Given the description of an element on the screen output the (x, y) to click on. 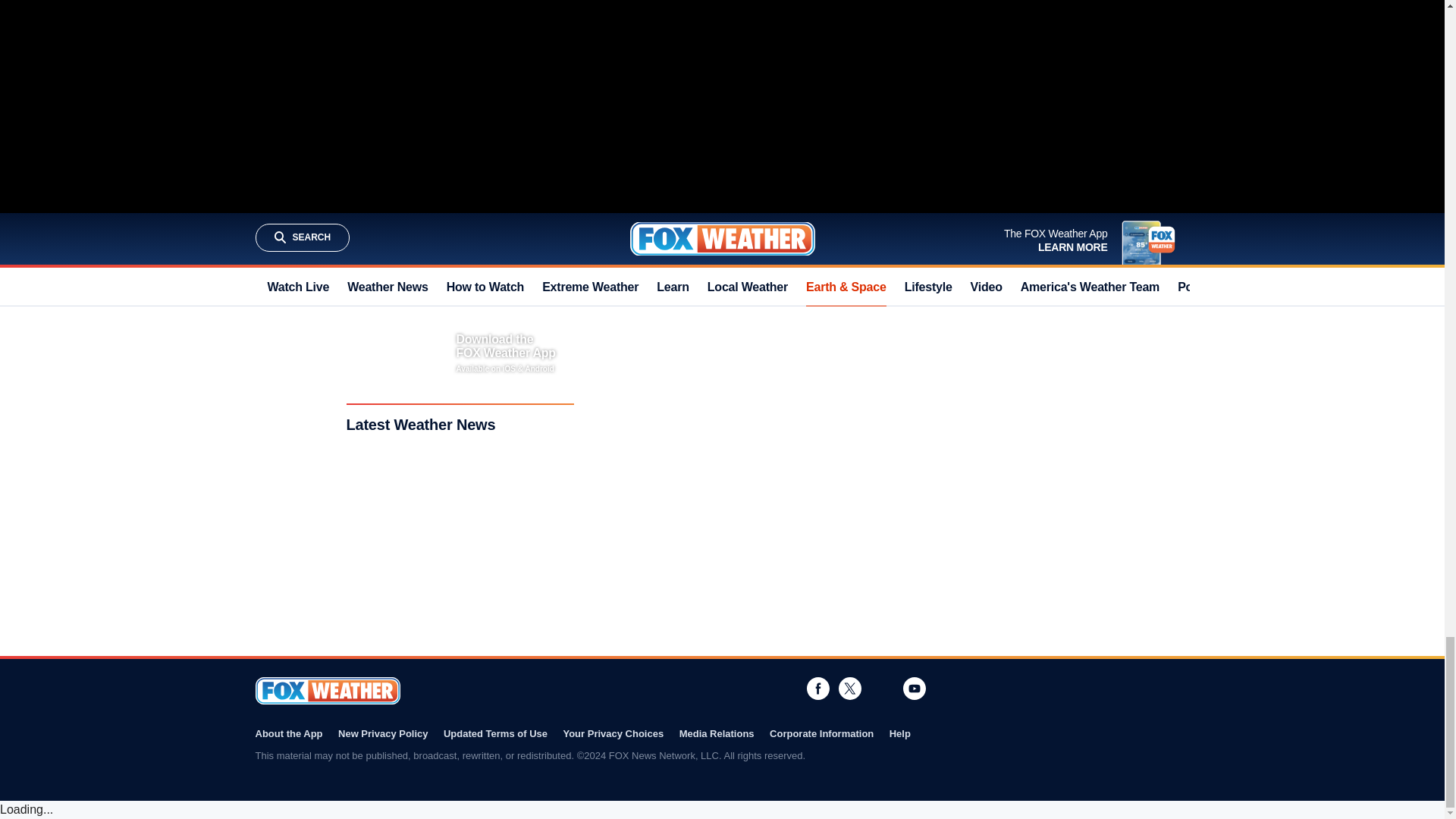
HOW TO WATCH FOX WEATHER (695, 79)
Fox Weather (326, 690)
HISTORY (857, 204)
OUTDOORS (801, 204)
ANIMALS (640, 204)
NATURE (745, 204)
WILDLIFE (693, 204)
